Given the description of an element on the screen output the (x, y) to click on. 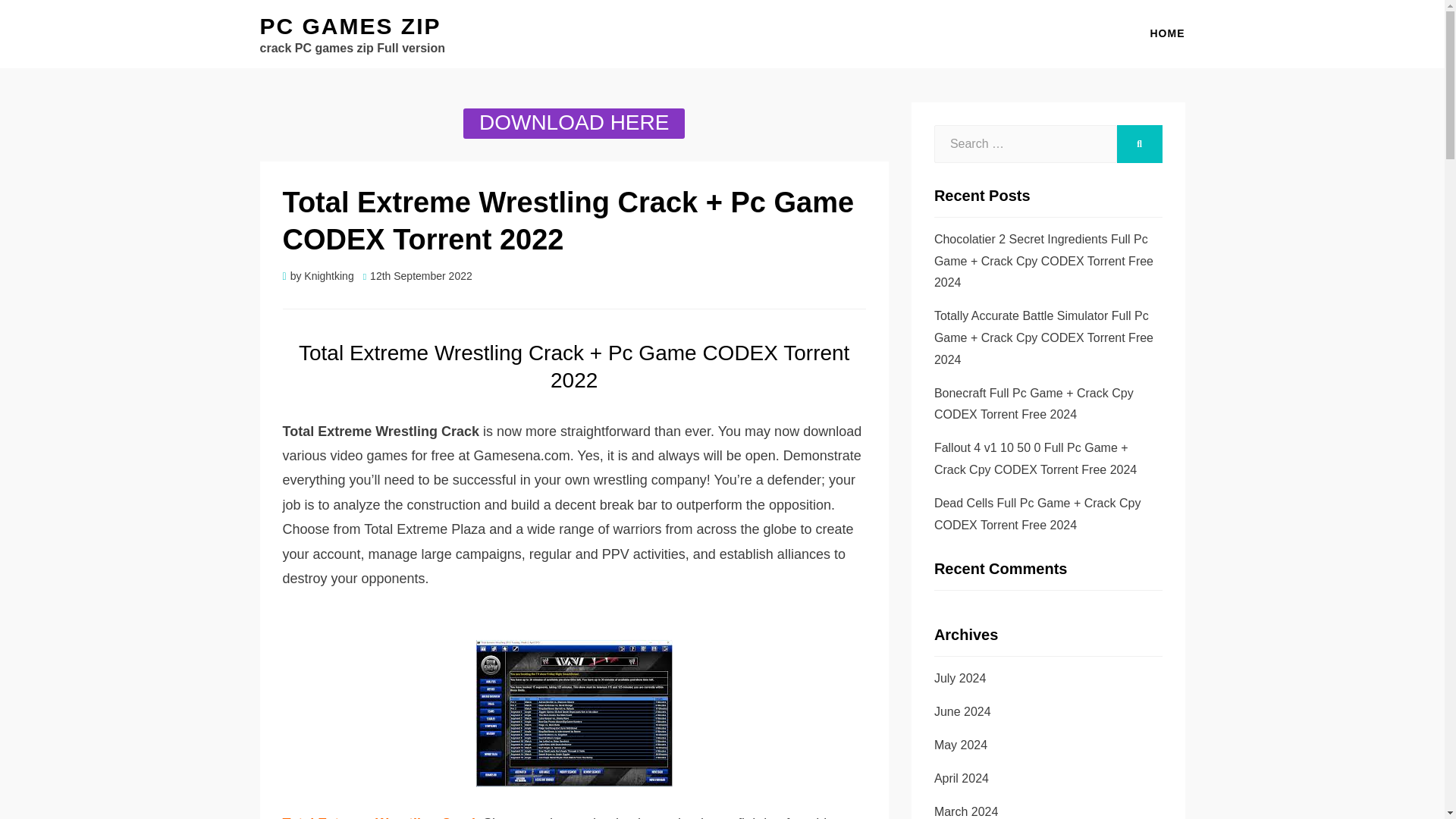
June 2024 (962, 711)
April 2024 (961, 778)
PC Games Zip (350, 25)
Knightking (328, 275)
HOME (1161, 33)
DOWNLOAD HERE (573, 123)
12th September 2022 (416, 275)
SEARCH (1138, 143)
July 2024 (960, 677)
Search for: (1025, 143)
Total Extreme Wrestling Crack (381, 817)
March 2024 (966, 811)
PC GAMES ZIP (350, 25)
May 2024 (960, 744)
